Given the description of an element on the screen output the (x, y) to click on. 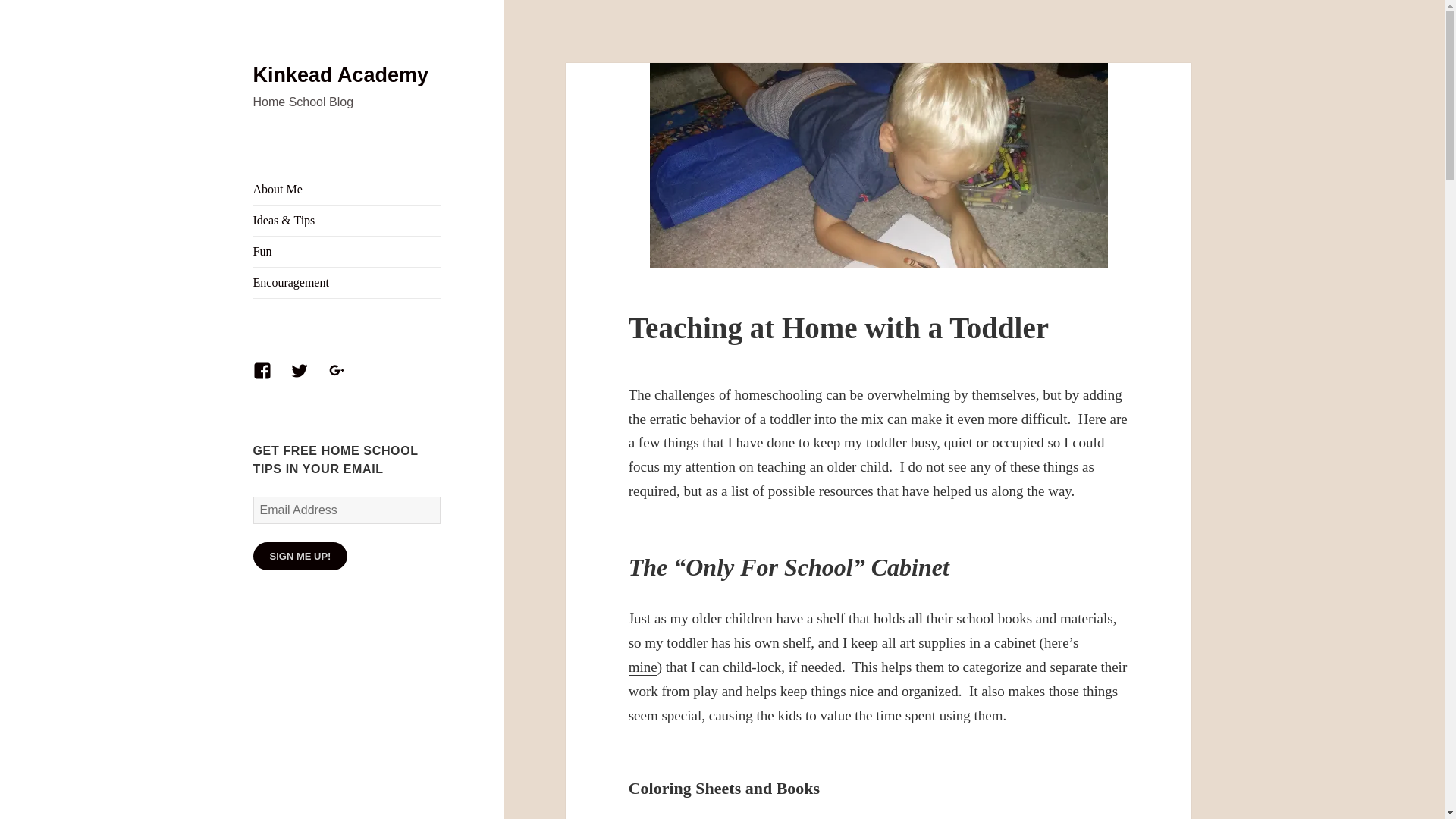
Facebook (271, 379)
Encouragement (347, 282)
Fun (347, 251)
About Me (347, 189)
Kinkead Academy (341, 74)
Twitter (307, 379)
ClosetMaid 8925 2-Door Stackable Organizer, Espresso (853, 654)
SIGN ME UP! (300, 556)
